Given the description of an element on the screen output the (x, y) to click on. 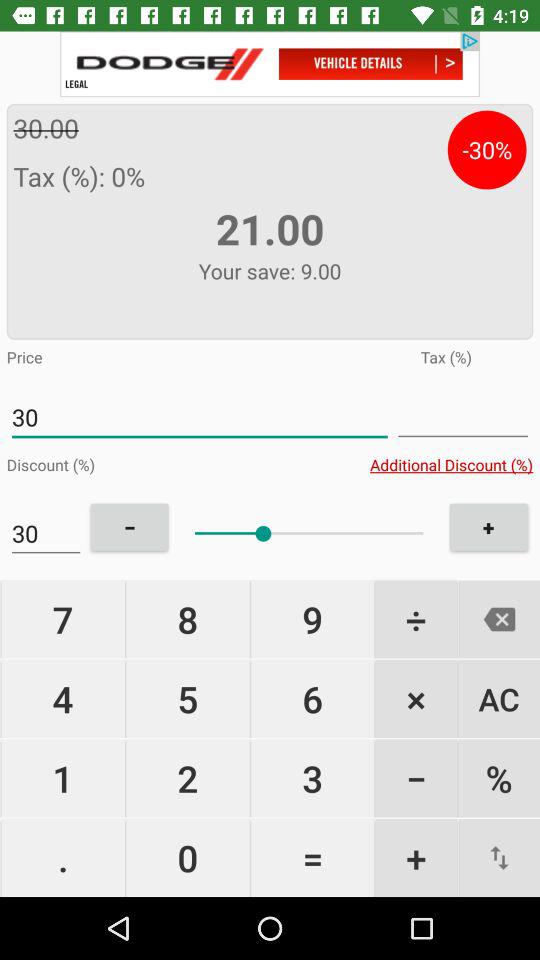
open advertisement (270, 64)
